Given the description of an element on the screen output the (x, y) to click on. 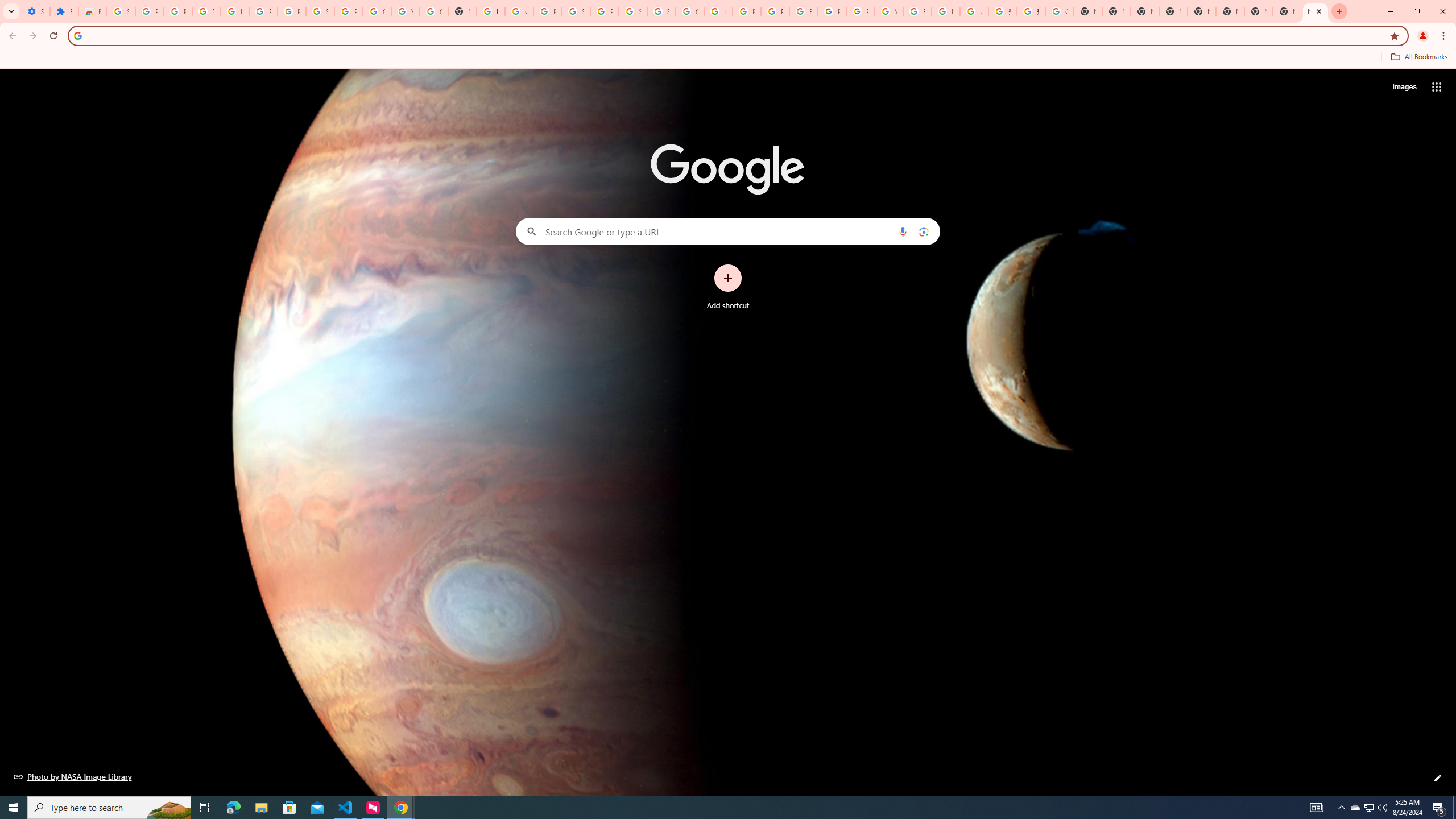
Sign in - Google Accounts (632, 11)
Browse Chrome as a guest - Computer - Google Chrome Help (917, 11)
Settings - On startup (35, 11)
Restore (1416, 11)
Address and search bar (735, 35)
